Given the description of an element on the screen output the (x, y) to click on. 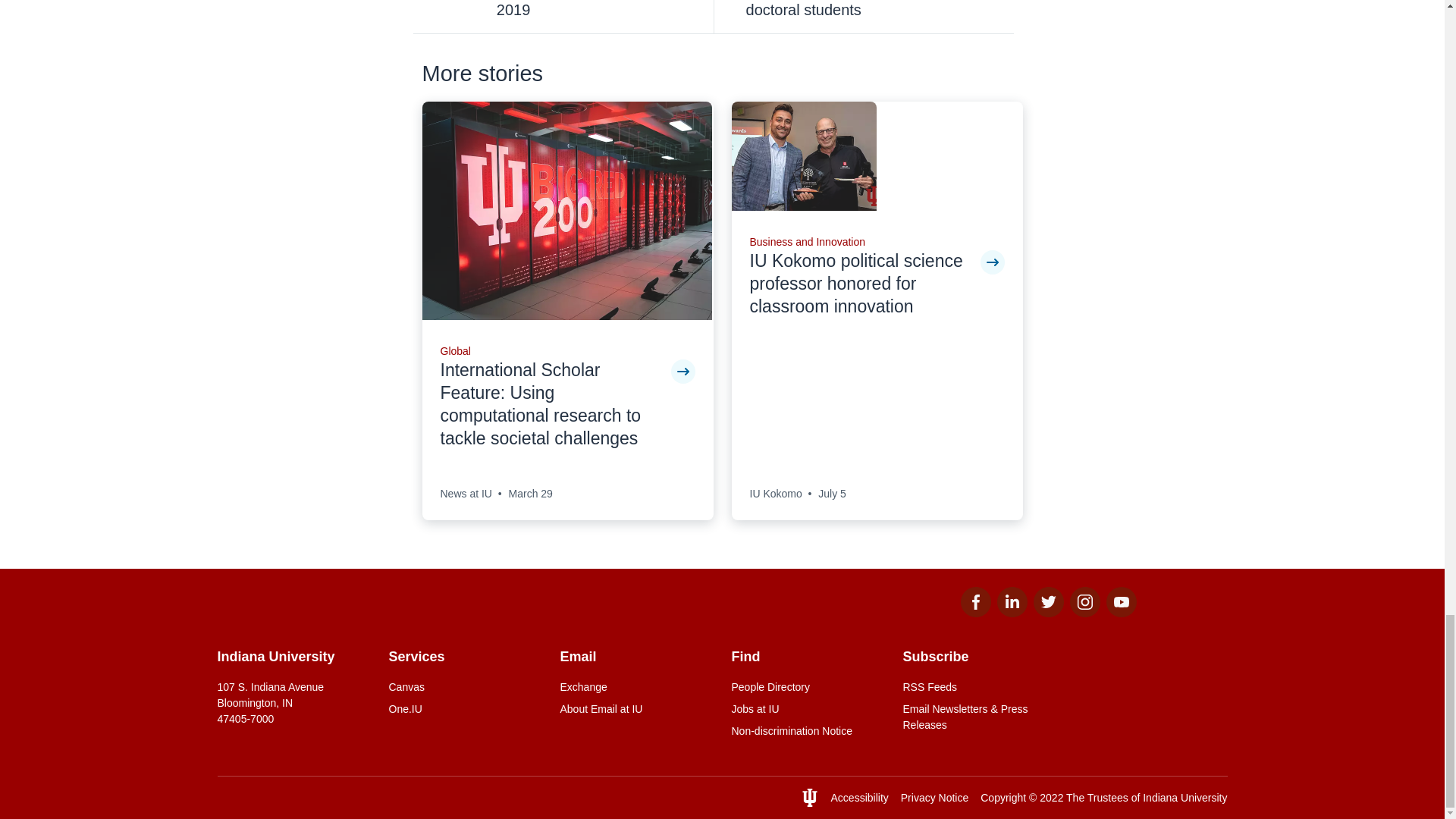
Accessibility (859, 797)
Twitter for IU (1047, 612)
Exchange (636, 687)
Copyright (1002, 797)
Privacy Notice (934, 797)
One.IU (464, 709)
Jobs at IU (806, 709)
Instagram for IU (1083, 612)
